Given the description of an element on the screen output the (x, y) to click on. 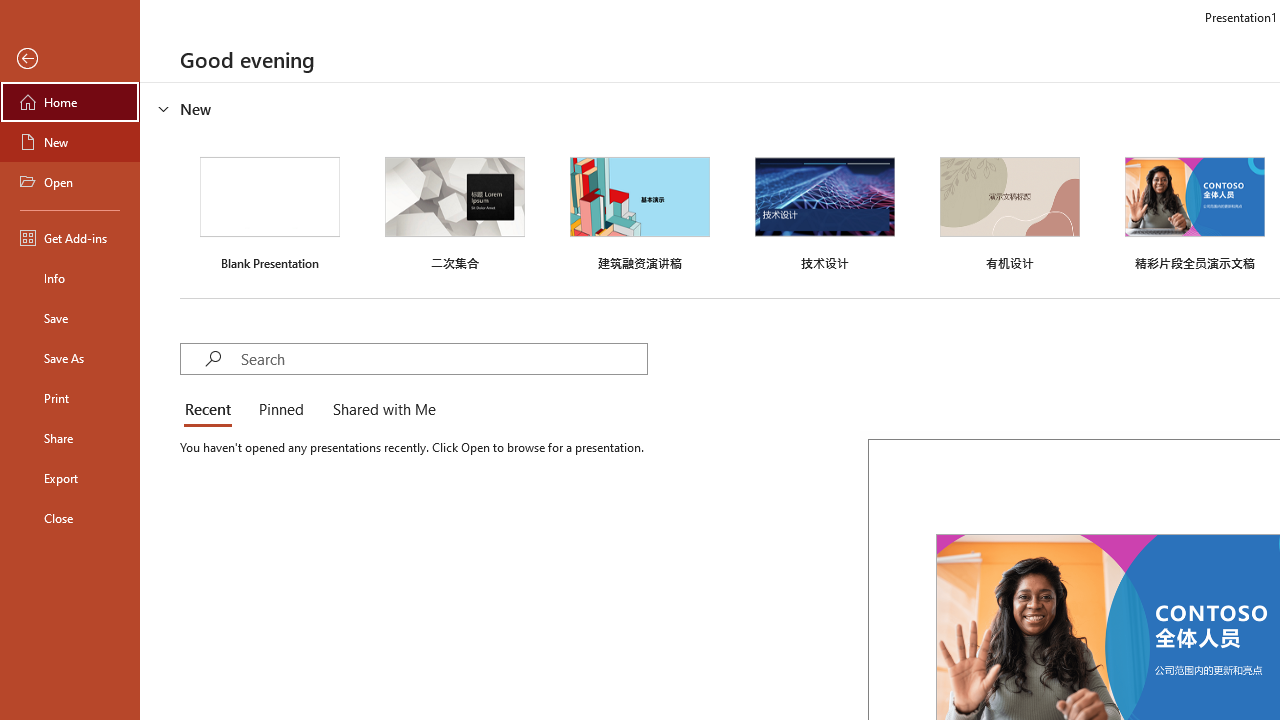
Info (69, 277)
New (69, 141)
Get Add-ins (69, 237)
Pinned (280, 410)
Hide or show region (164, 108)
